Given the description of an element on the screen output the (x, y) to click on. 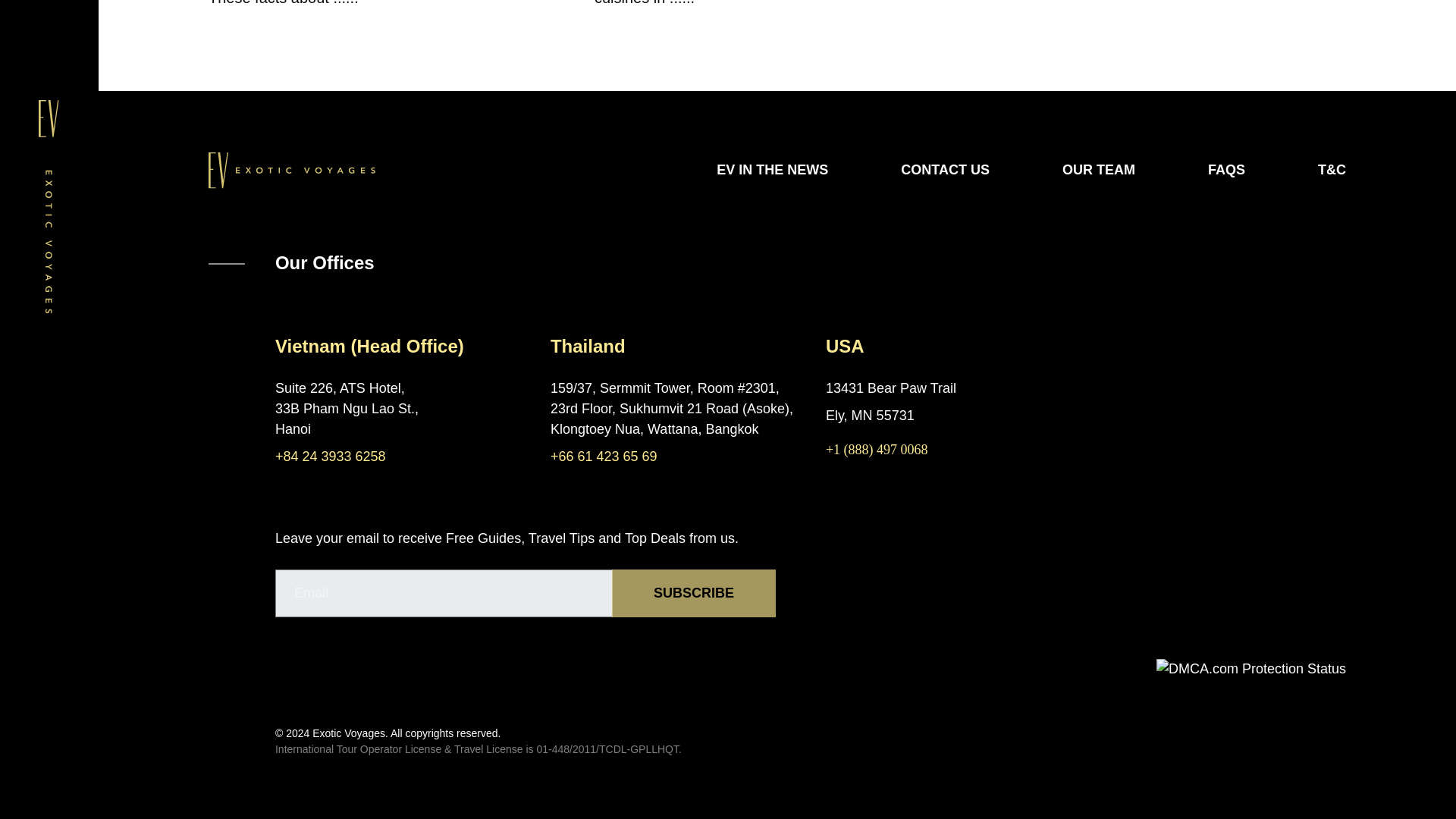
Our Team (1098, 169)
EV in the News (772, 169)
FAQs (1226, 169)
Contact Us (945, 169)
